Given the description of an element on the screen output the (x, y) to click on. 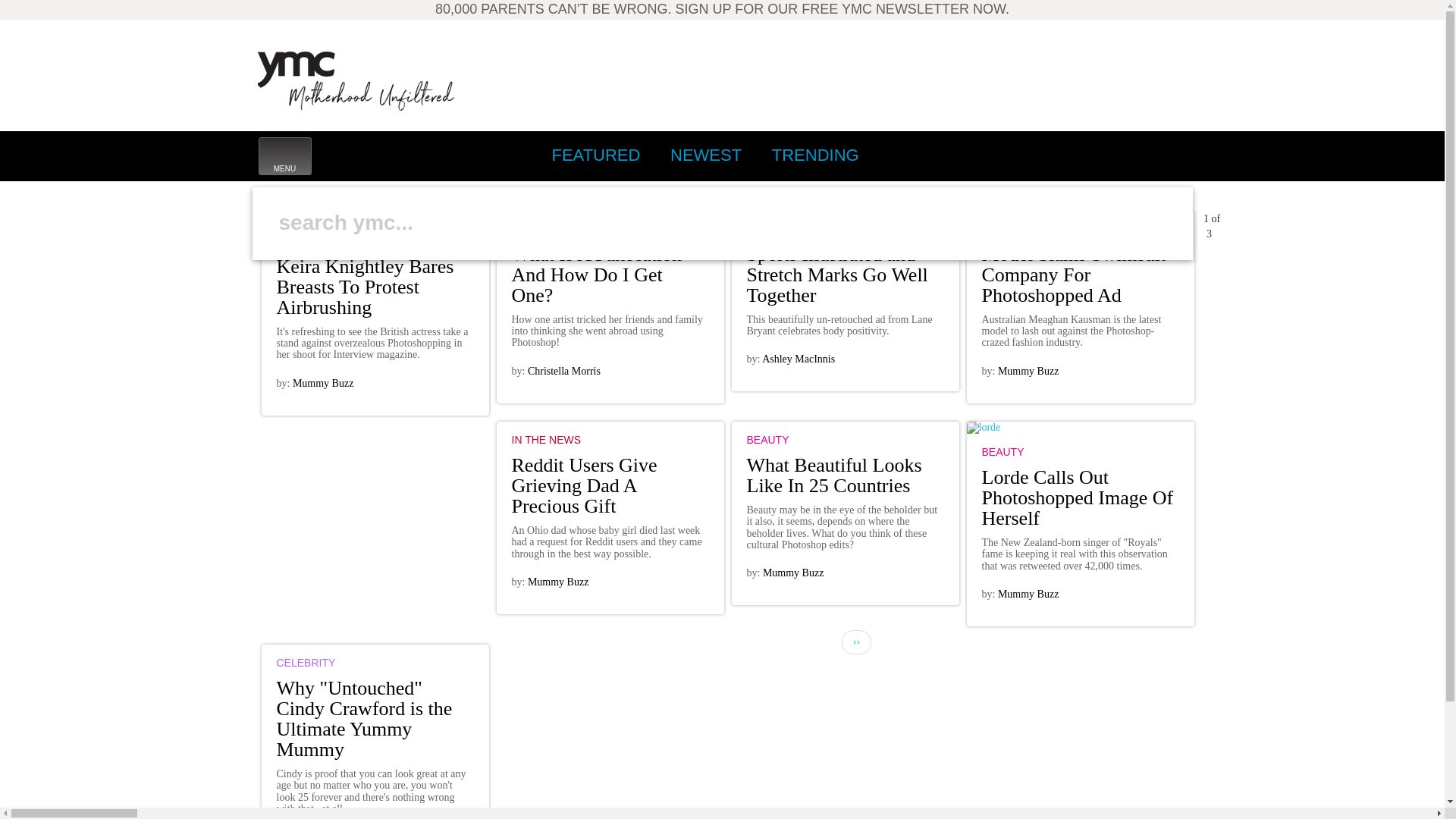
NEWEST (705, 155)
SEARCH (591, 205)
Enter the terms you wish to search for. (704, 222)
Search (275, 276)
Twitter (1135, 154)
YouTube (1168, 154)
Home (355, 79)
Pinterest (1068, 154)
RSS (1101, 154)
